Given the description of an element on the screen output the (x, y) to click on. 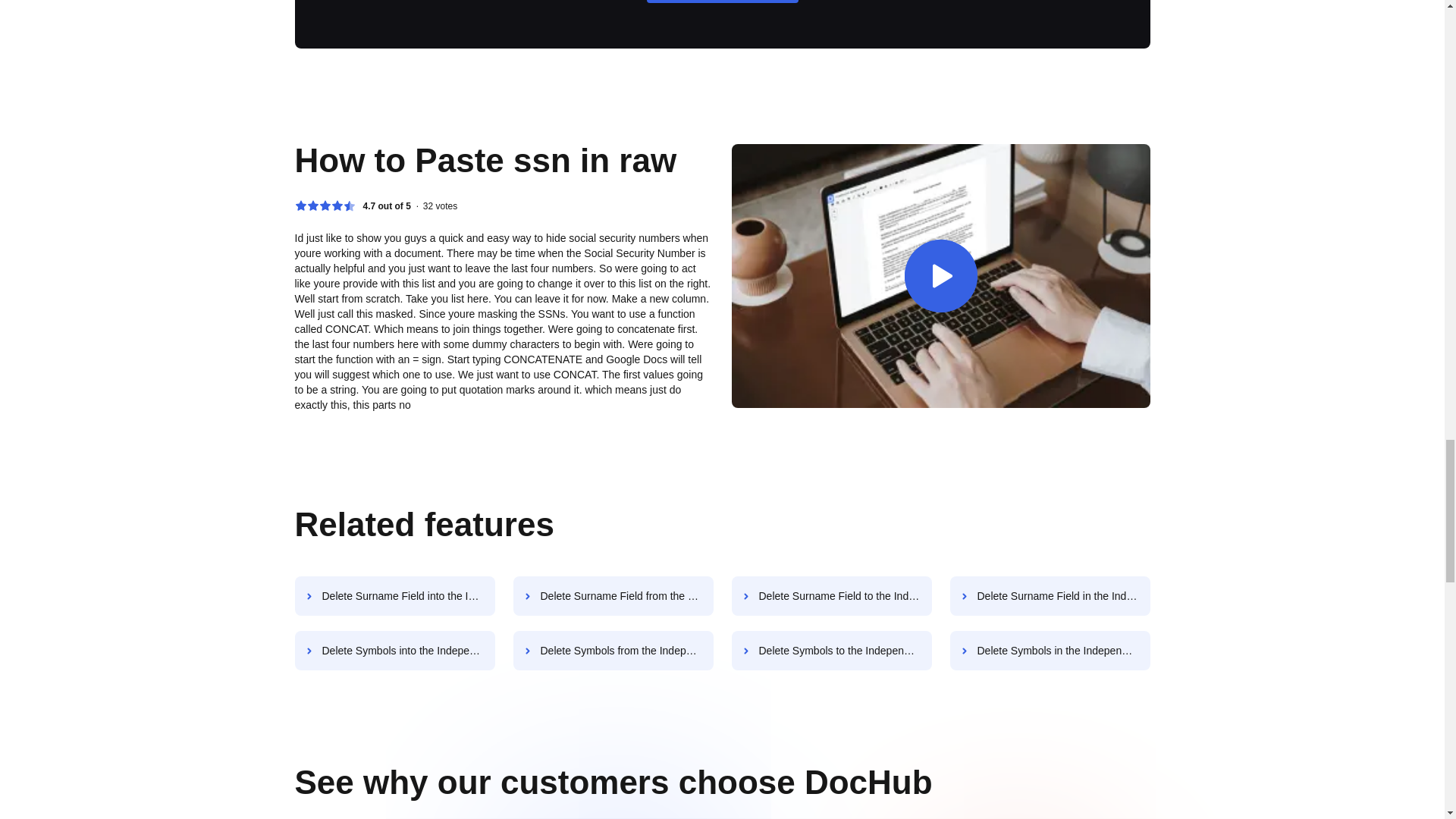
Install now (721, 1)
Delete Symbols in the Independent Contractor Agreement (1049, 650)
Delete Surname Field to the Independent Contractor Agreement (830, 595)
Delete Surname Field in the Independent Contractor Agreement (1049, 595)
Delete Symbols into the Independent Contractor Agreement (394, 650)
Delete Symbols from the Independent Contractor Agreement (612, 650)
Delete Symbols to the Independent Contractor Agreement (830, 650)
